Given the description of an element on the screen output the (x, y) to click on. 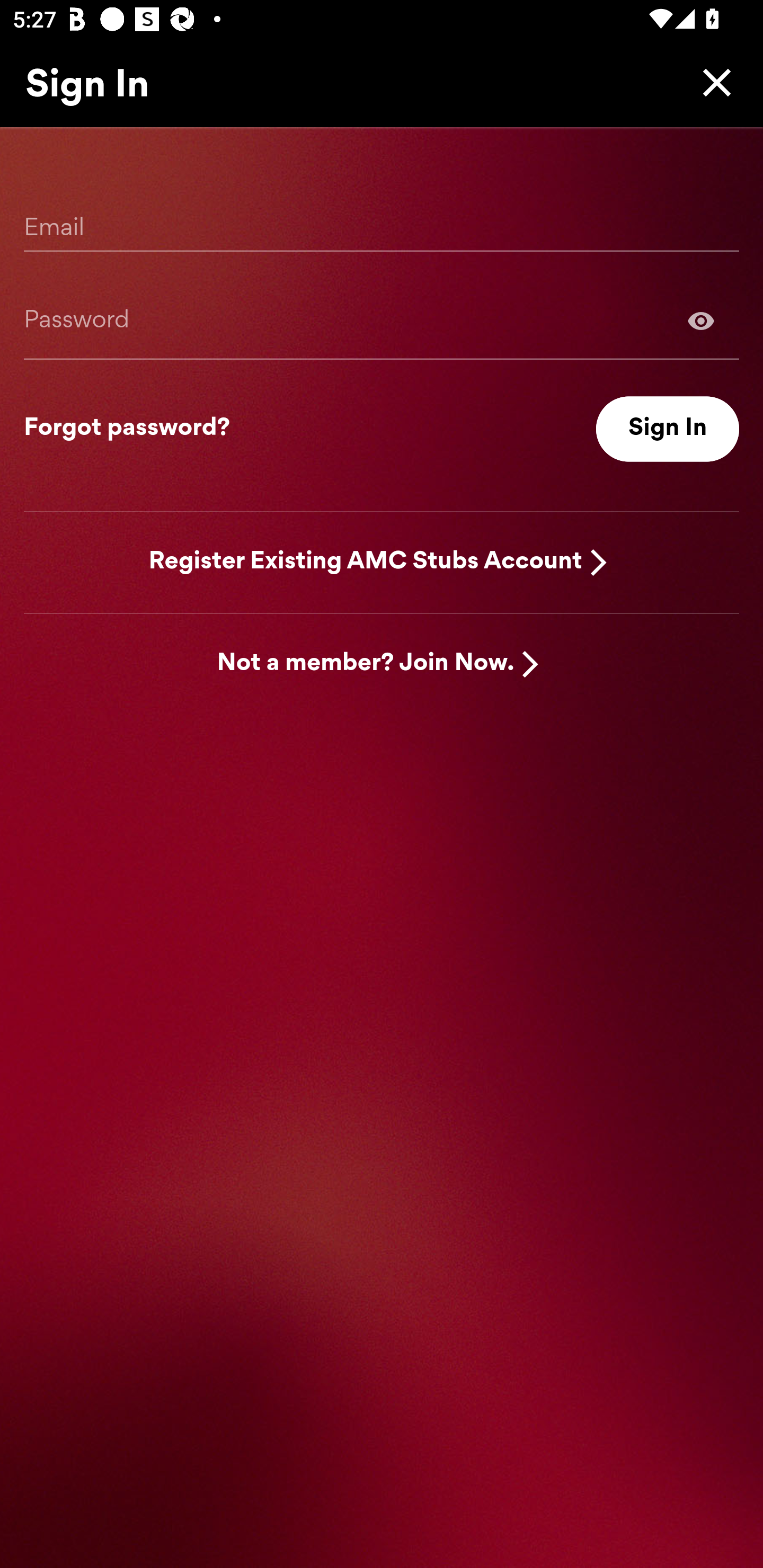
Close (712, 82)
Show Password (381, 320)
Show Password (701, 320)
Forgot password? (126, 428)
Sign In (667, 428)
Register Existing AMC Stubs Account (365, 561)
Not a member? Join Now. (365, 663)
